Given the description of an element on the screen output the (x, y) to click on. 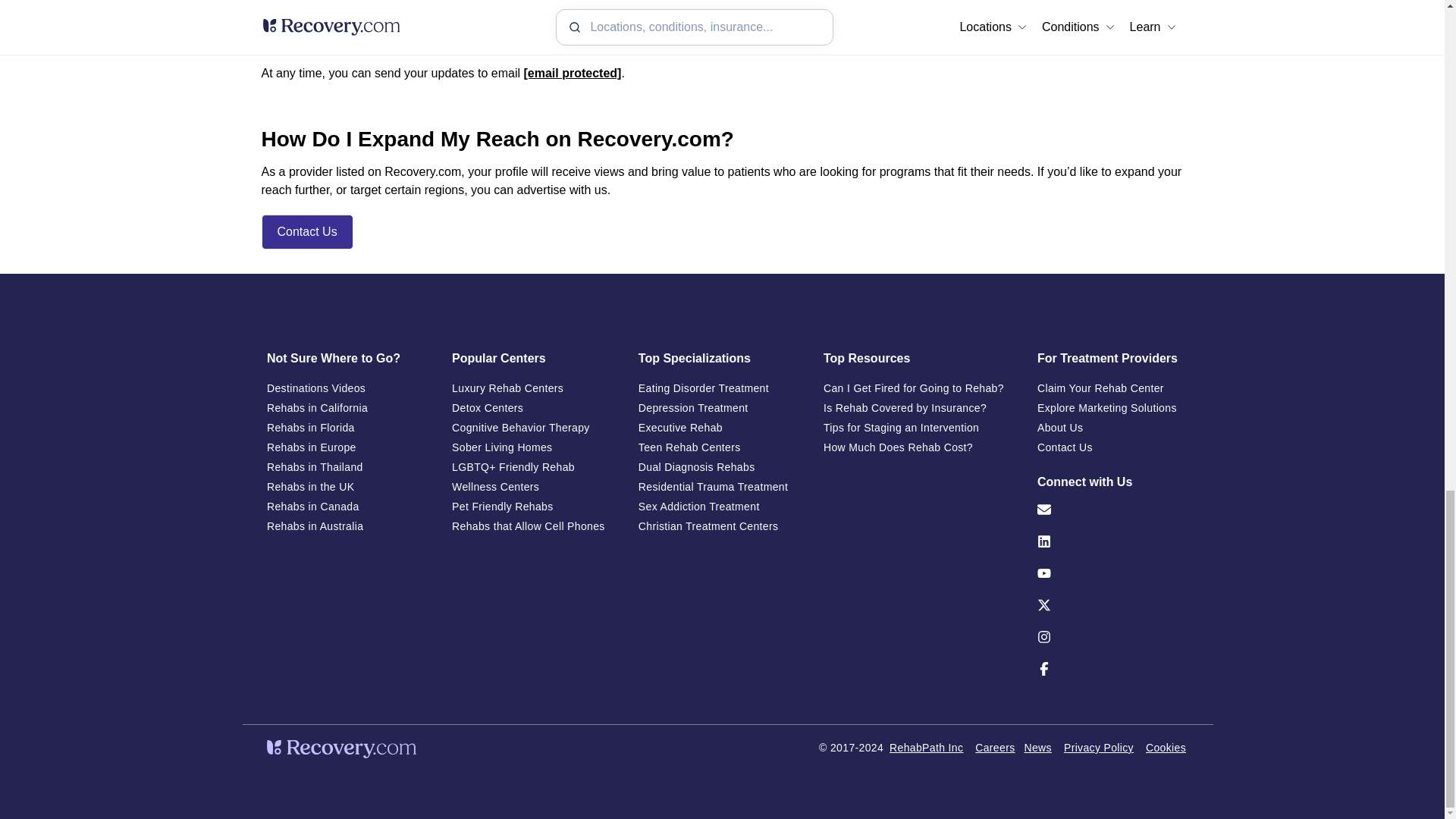
Facebook (1112, 683)
LinkedIn (1112, 556)
News (1038, 756)
RehabPath Inc (925, 747)
Instagram (1112, 651)
YouTube (1112, 588)
Privacy Policy (1099, 756)
Careers (994, 756)
X formerly Twitter (1112, 620)
Cookies policy (1165, 756)
